Given the description of an element on the screen output the (x, y) to click on. 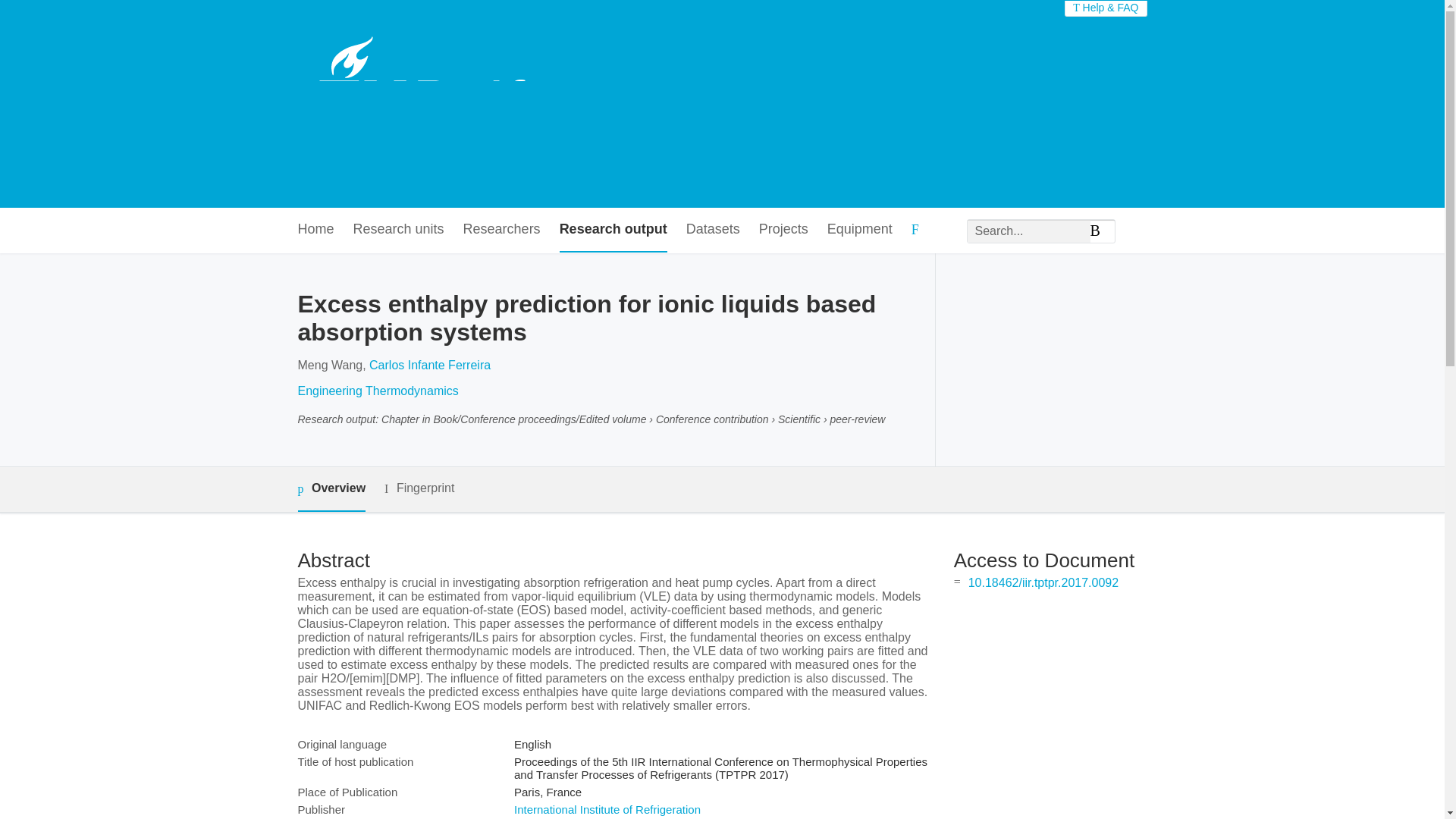
Overview (331, 488)
Carlos Infante Ferreira (429, 364)
Research units (398, 230)
TU Delft Research Portal Home (438, 103)
Research output (612, 230)
Projects (783, 230)
Datasets (712, 230)
Engineering Thermodynamics (377, 390)
Fingerprint (419, 488)
